Given the description of an element on the screen output the (x, y) to click on. 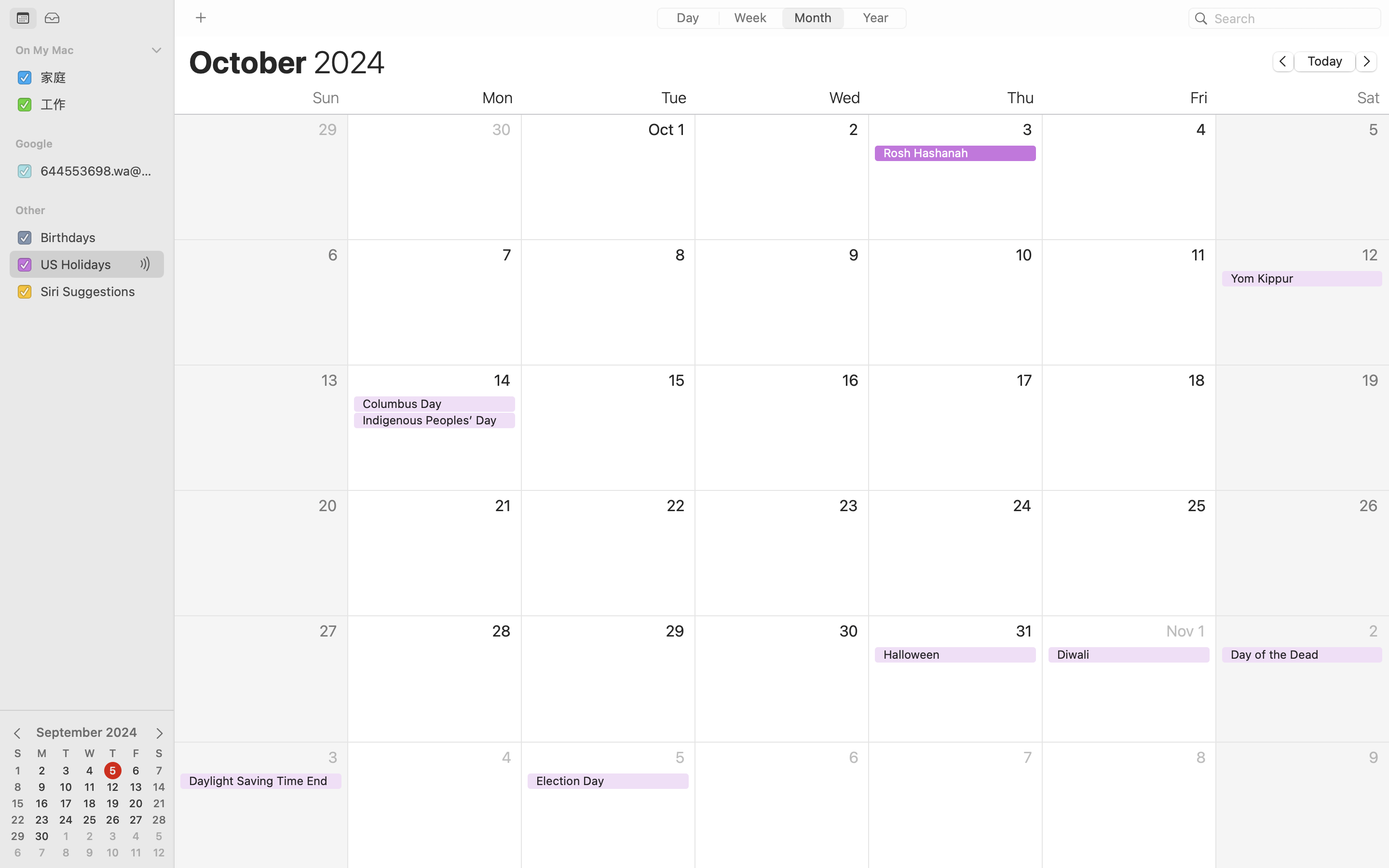
2 Element type: AXStaticText (41, 770)
17 Element type: AXStaticText (66, 803)
19 Element type: AXStaticText (112, 803)
